Given the description of an element on the screen output the (x, y) to click on. 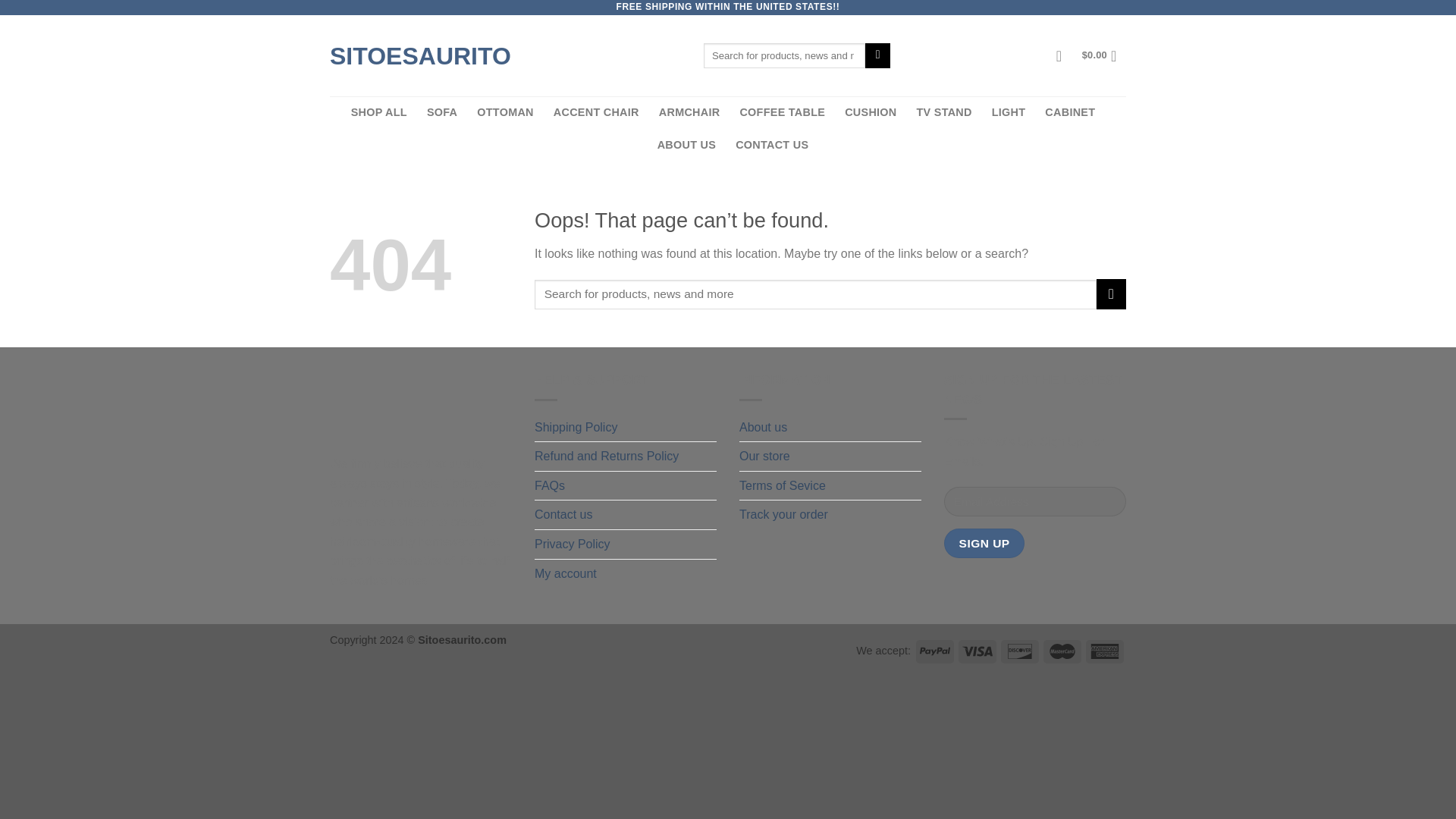
FAQs (549, 485)
Terms of Sevice (782, 485)
Search (876, 55)
ACCENT CHAIR (596, 112)
COFFEE TABLE (782, 112)
Track your order (783, 514)
Refund and Returns Policy (606, 456)
CUSHION (870, 112)
About us (763, 427)
SOFA (441, 112)
